Given the description of an element on the screen output the (x, y) to click on. 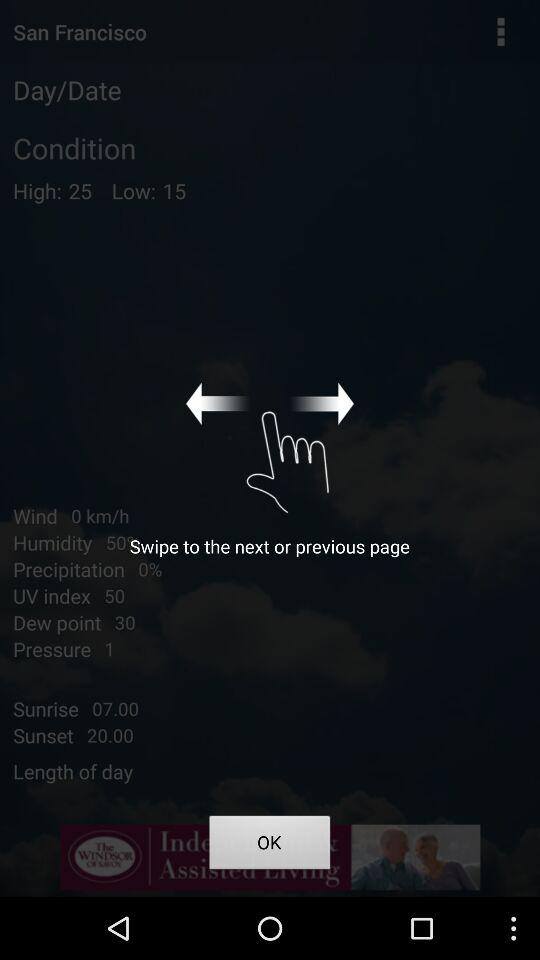
flip to ok icon (269, 845)
